Given the description of an element on the screen output the (x, y) to click on. 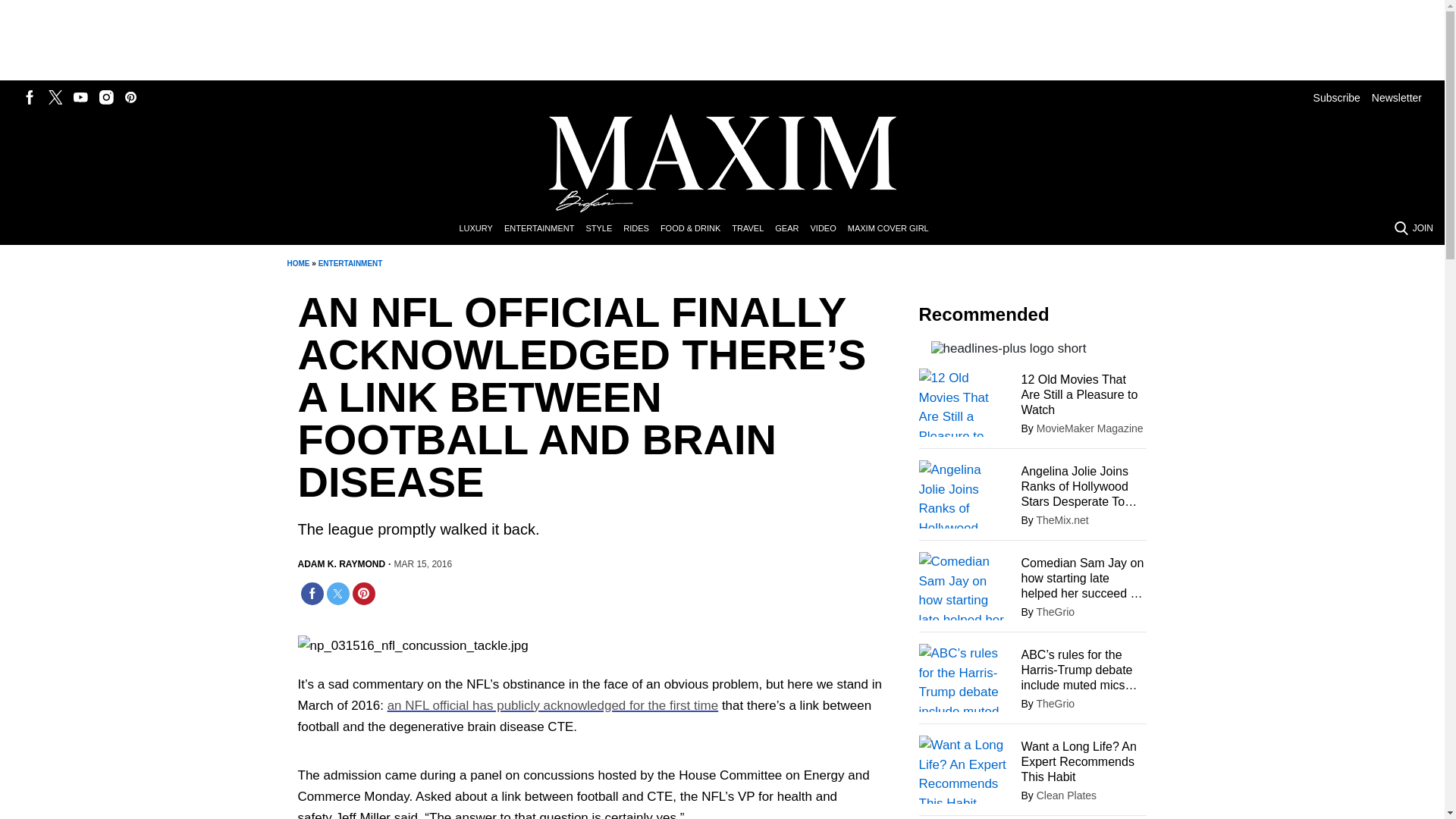
Share on Twitter (337, 593)
Follow us on Twitter (55, 97)
Follow us on Instagram (106, 97)
MAXIM COVER GIRL (893, 228)
LUXURY (480, 228)
ENTERTAINMENT (350, 263)
Follow us on Facebook (30, 97)
Follow us on Youtube (80, 97)
Posts by Adam K. Raymond (341, 563)
Newsletter (1396, 97)
